Given the description of an element on the screen output the (x, y) to click on. 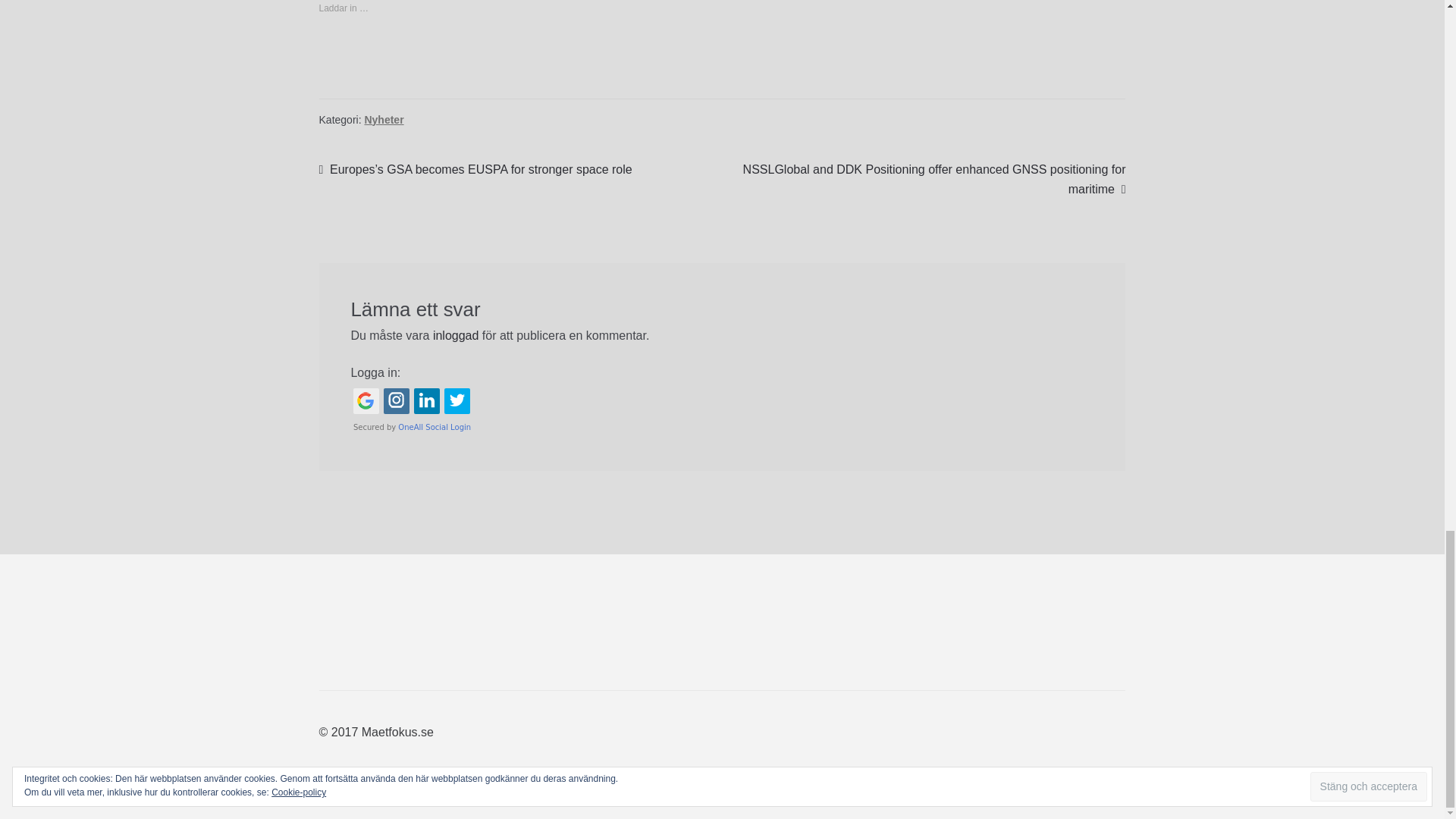
Gilla eller reblogga (721, 60)
inloggad (455, 335)
Login with Social Networks (721, 409)
Nyheter (383, 119)
